Given the description of an element on the screen output the (x, y) to click on. 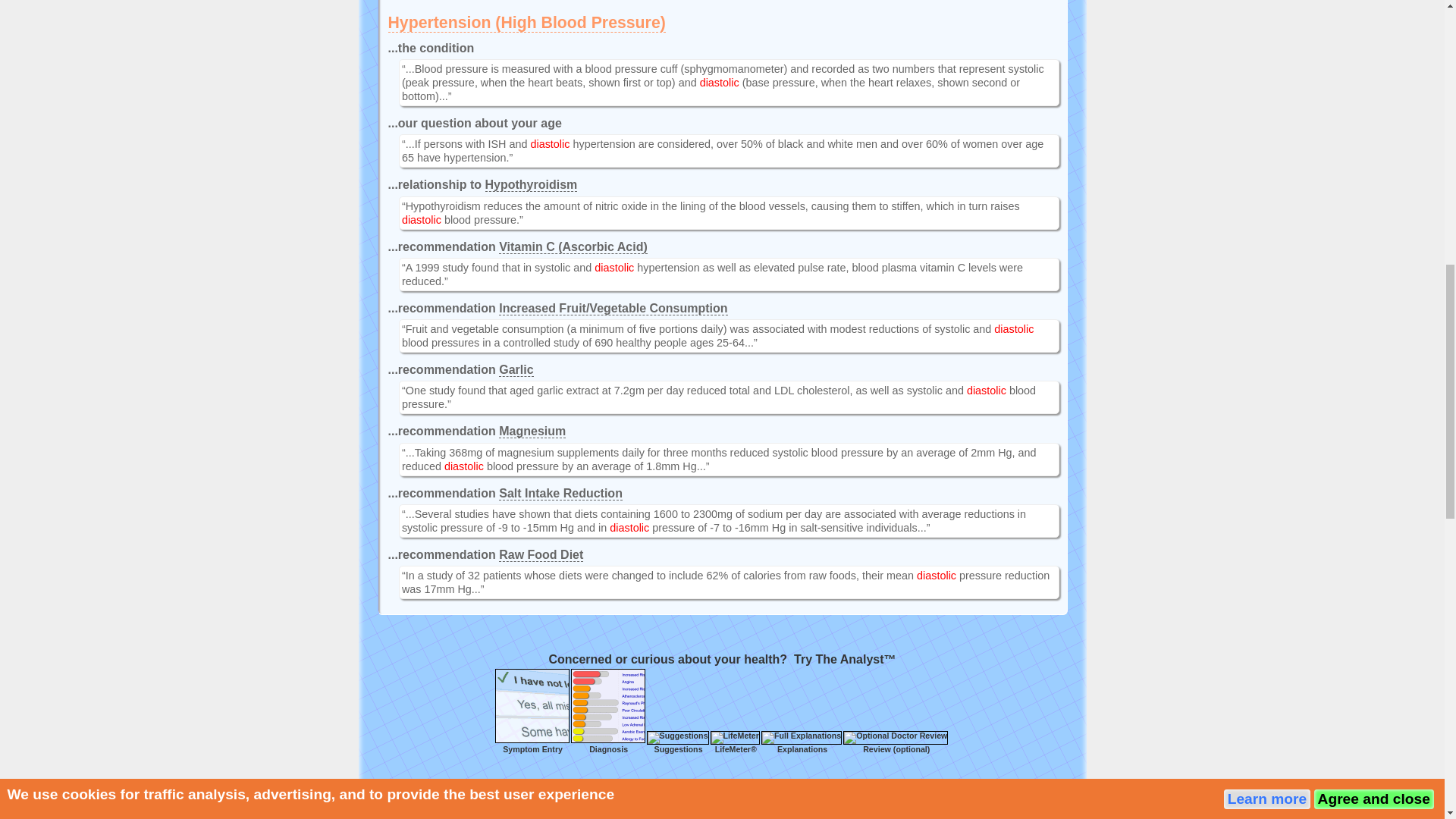
Salt Intake Reduction (561, 493)
Hypothyroidism (531, 184)
Magnesium (532, 431)
Garlic (515, 369)
Raw Food Diet (541, 554)
